Given the description of an element on the screen output the (x, y) to click on. 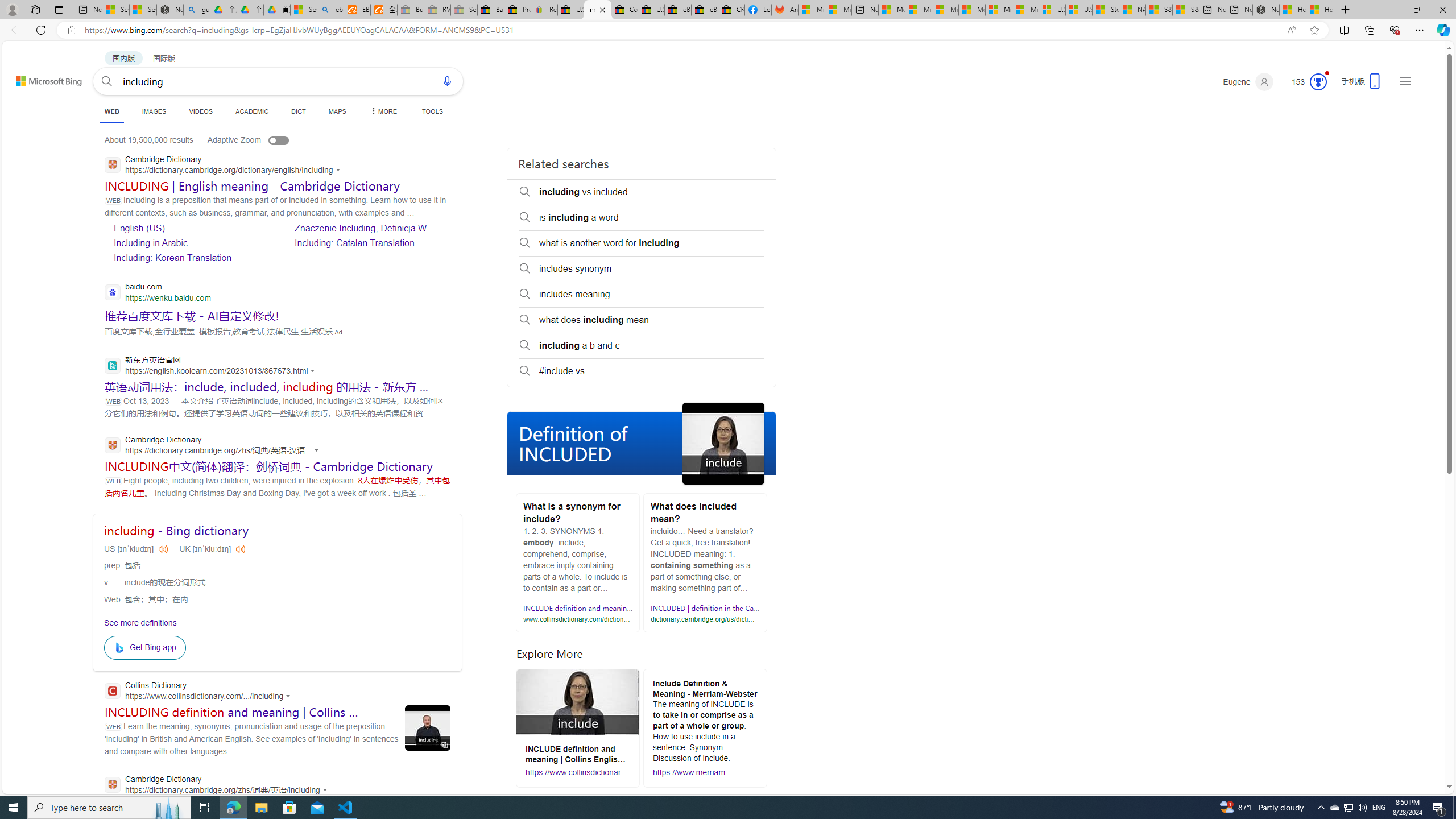
See more definitions (139, 622)
How to Use a Monitor With Your Closed Laptop (1319, 9)
what is another word for including (641, 242)
INCLUDE definition and meaning | Collins English (603, 607)
is including a word (641, 217)
includes synonym (641, 268)
Address and search bar (680, 29)
To get missing image descriptions, open the context menu. (121, 647)
VIDEOS (201, 111)
Skip to content (35, 76)
Search button (106, 80)
